Given the description of an element on the screen output the (x, y) to click on. 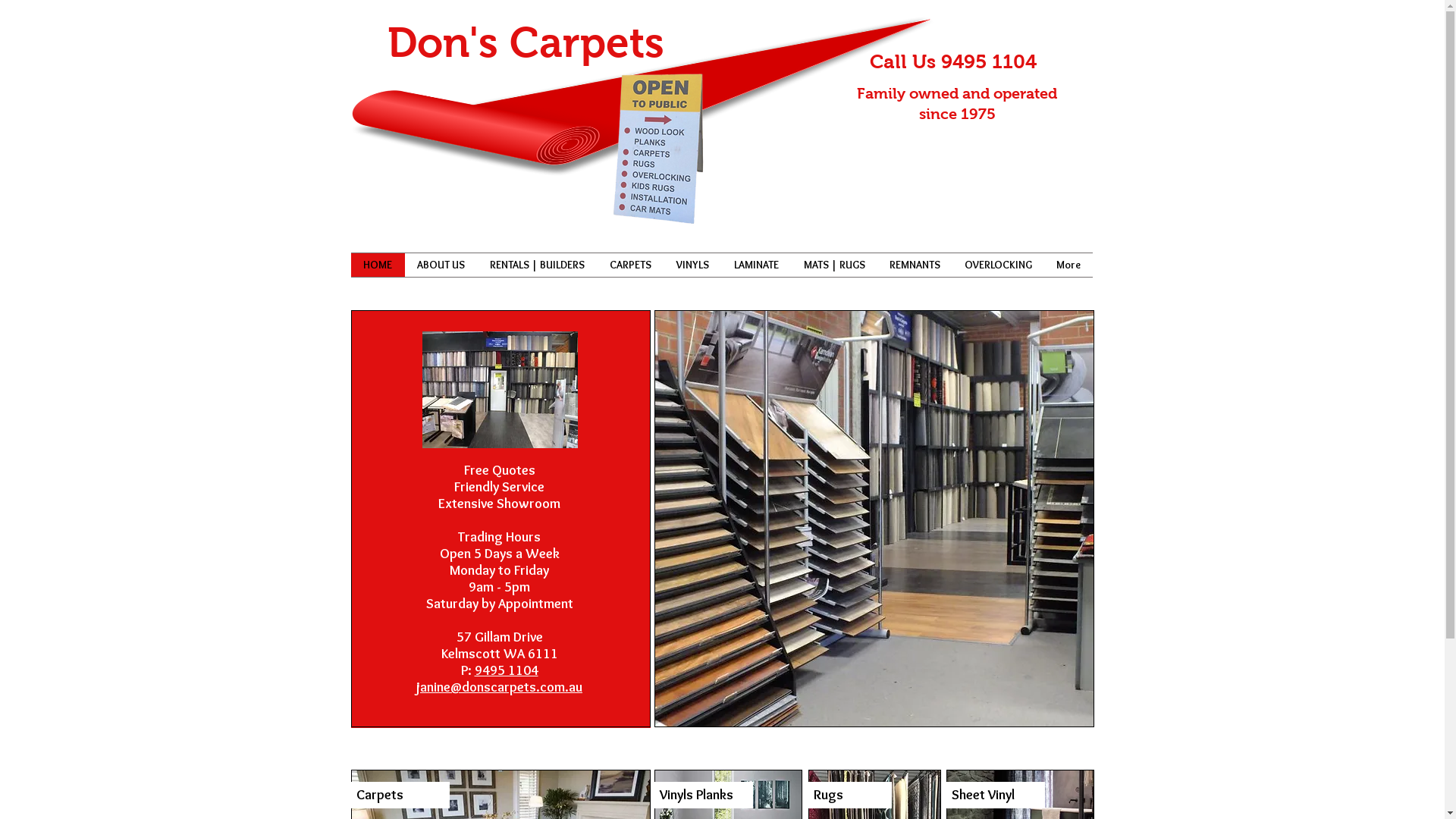
Sheet Vinyl Element type: text (995, 794)
Carpets Element type: text (399, 794)
VINYLS Element type: text (692, 264)
Rugs Element type: text (849, 794)
LAMINATE Element type: text (756, 264)
MATS | RUGS Element type: text (834, 264)
HOME Element type: text (377, 264)
CARPETS Element type: text (630, 264)
OVERLOCKING Element type: text (998, 264)
9495 1104 Element type: text (506, 670)
ABOUT US Element type: text (440, 264)
REMNANTS Element type: text (913, 264)
9495 1104 Element type: text (987, 60)
RENTALS | BUILDERS Element type: text (537, 264)
Vinyls Planks Element type: text (702, 794)
Capture.JPG Element type: hover (652, 149)
Don's Carpets Element type: text (524, 41)
janine@donscarpets.com.au Element type: text (499, 687)
